Given the description of an element on the screen output the (x, y) to click on. 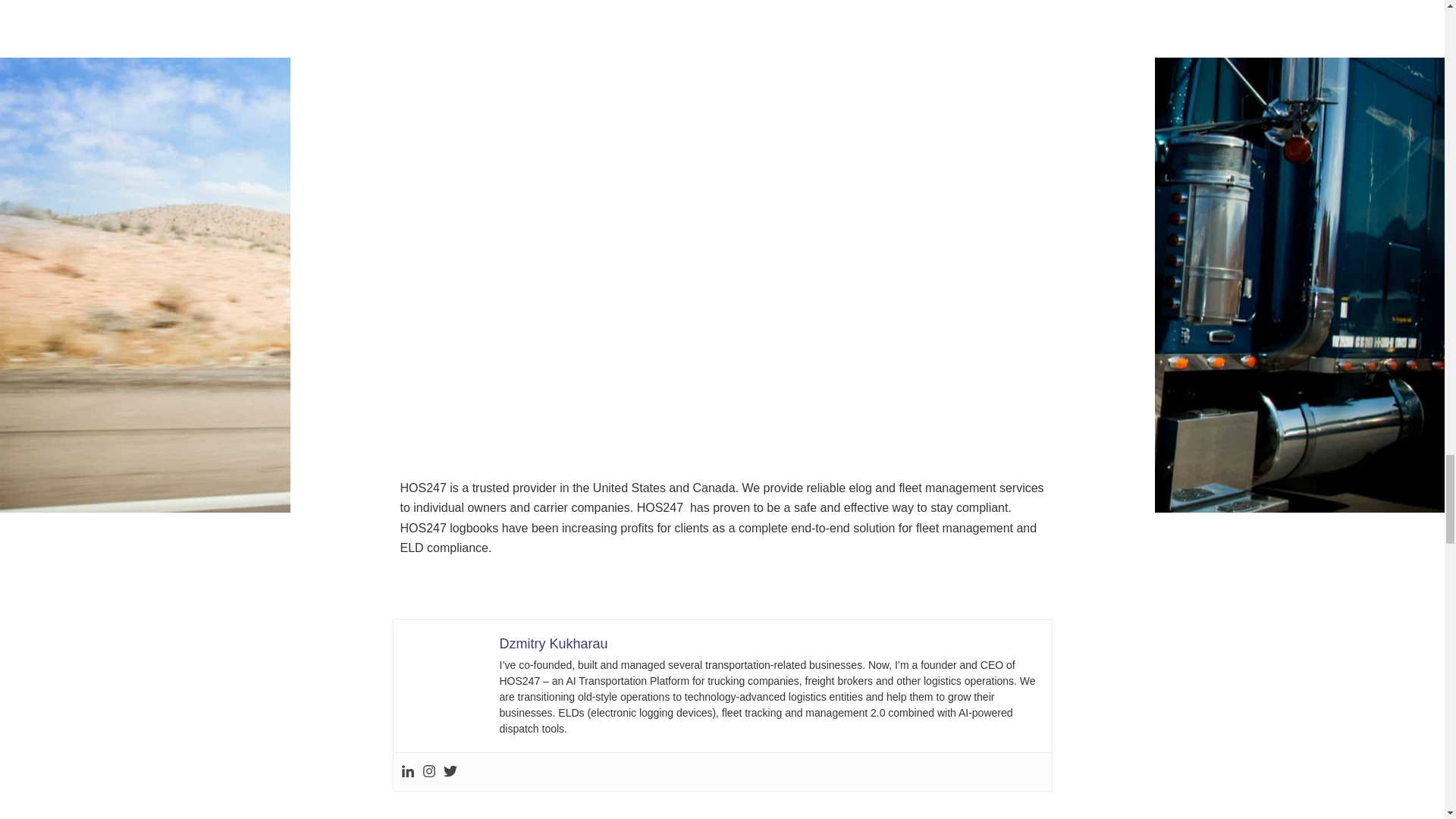
Twitter (449, 771)
Linkedin (406, 771)
Dzmitry Kukharau (553, 643)
Instagram (428, 771)
